Given the description of an element on the screen output the (x, y) to click on. 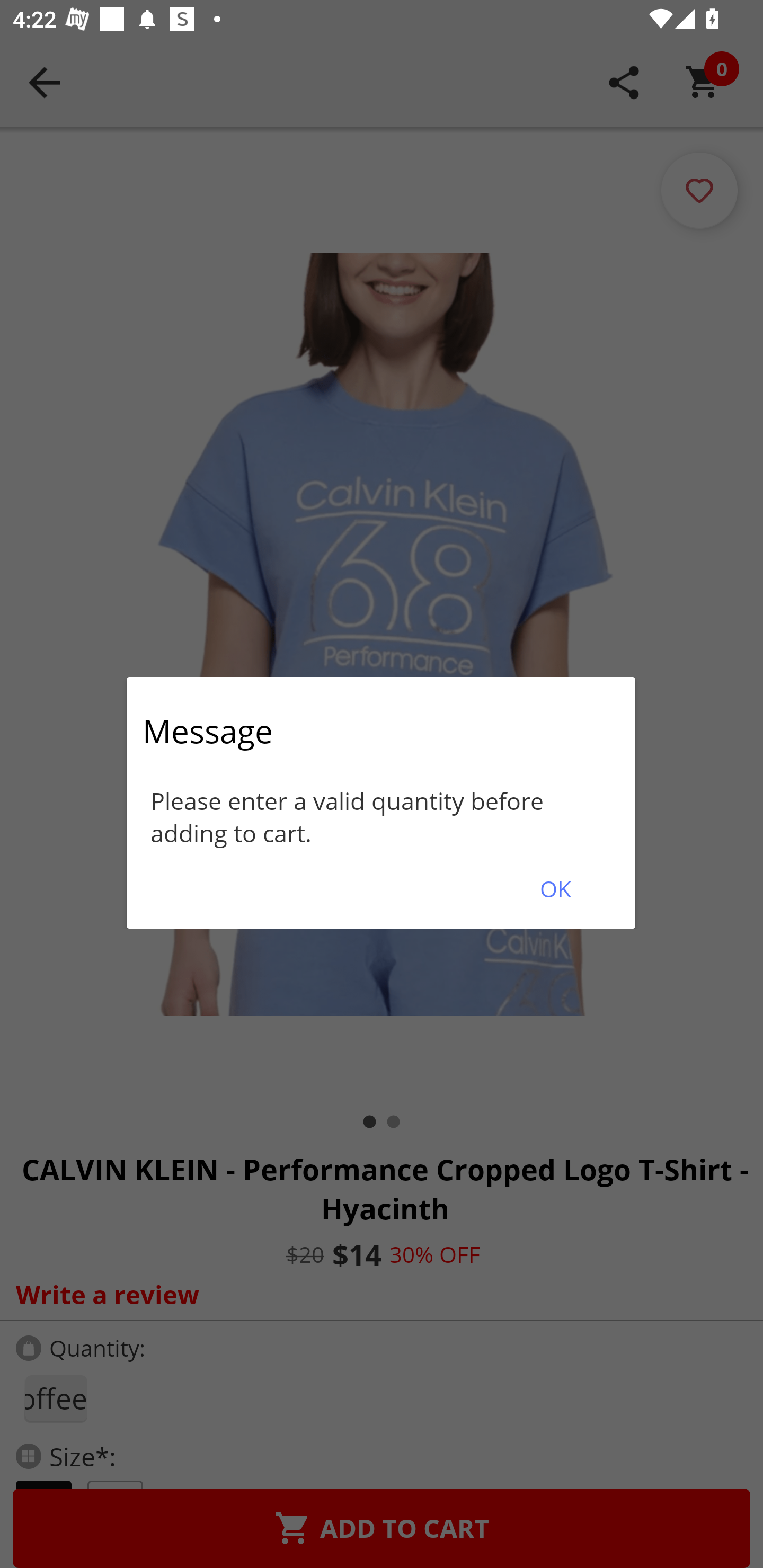
OK (555, 888)
